Given the description of an element on the screen output the (x, y) to click on. 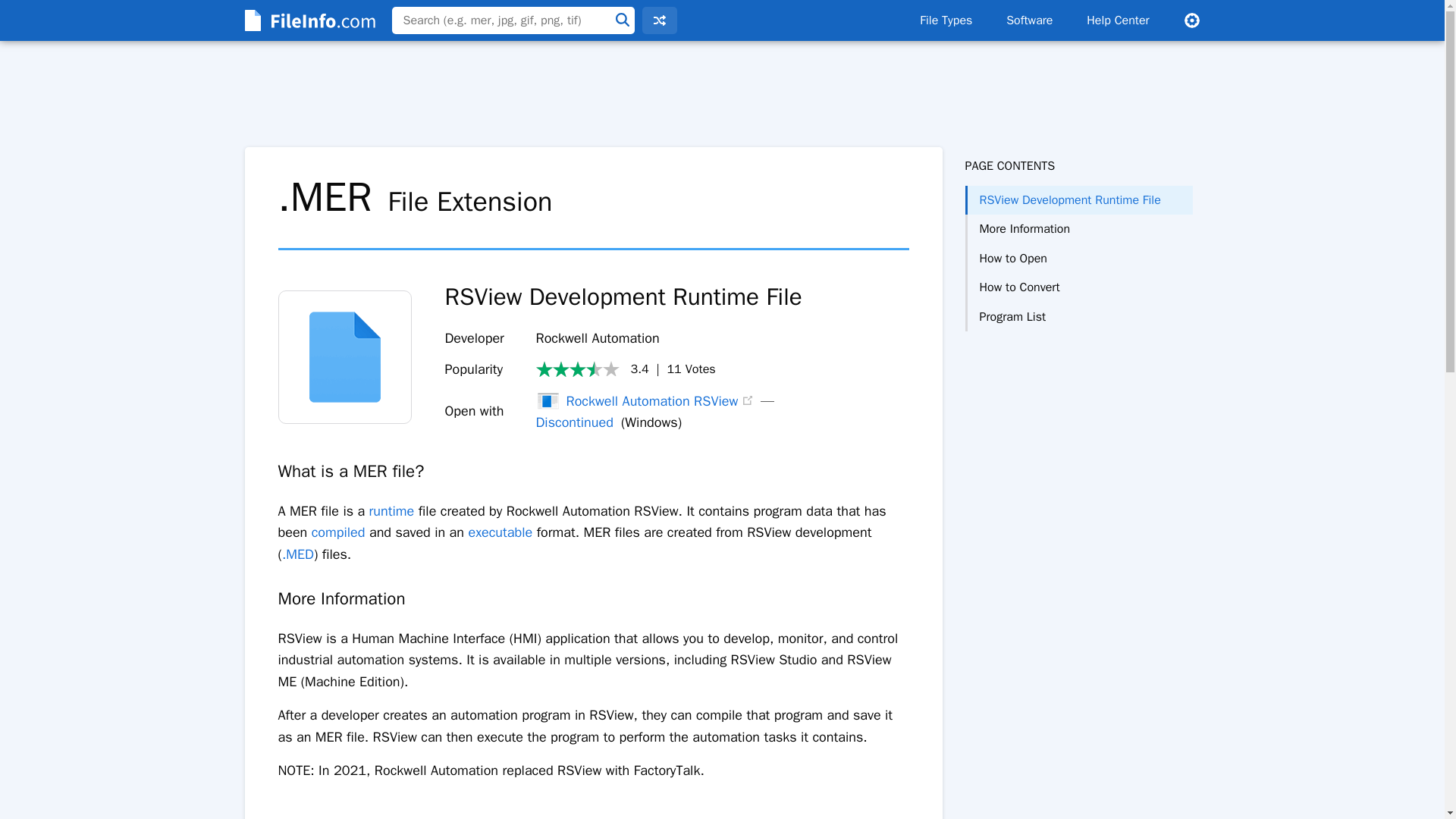
.MED (298, 554)
Rockwell Automation RSView (636, 401)
Discontinued (573, 422)
Settings (1190, 20)
FileInfo (307, 20)
Document Icon (344, 357)
Help Center (1117, 20)
File Types (945, 20)
executable (499, 532)
Search (621, 20)
runtime (391, 510)
compiled (338, 532)
Software (1029, 20)
Random (659, 20)
